Given the description of an element on the screen output the (x, y) to click on. 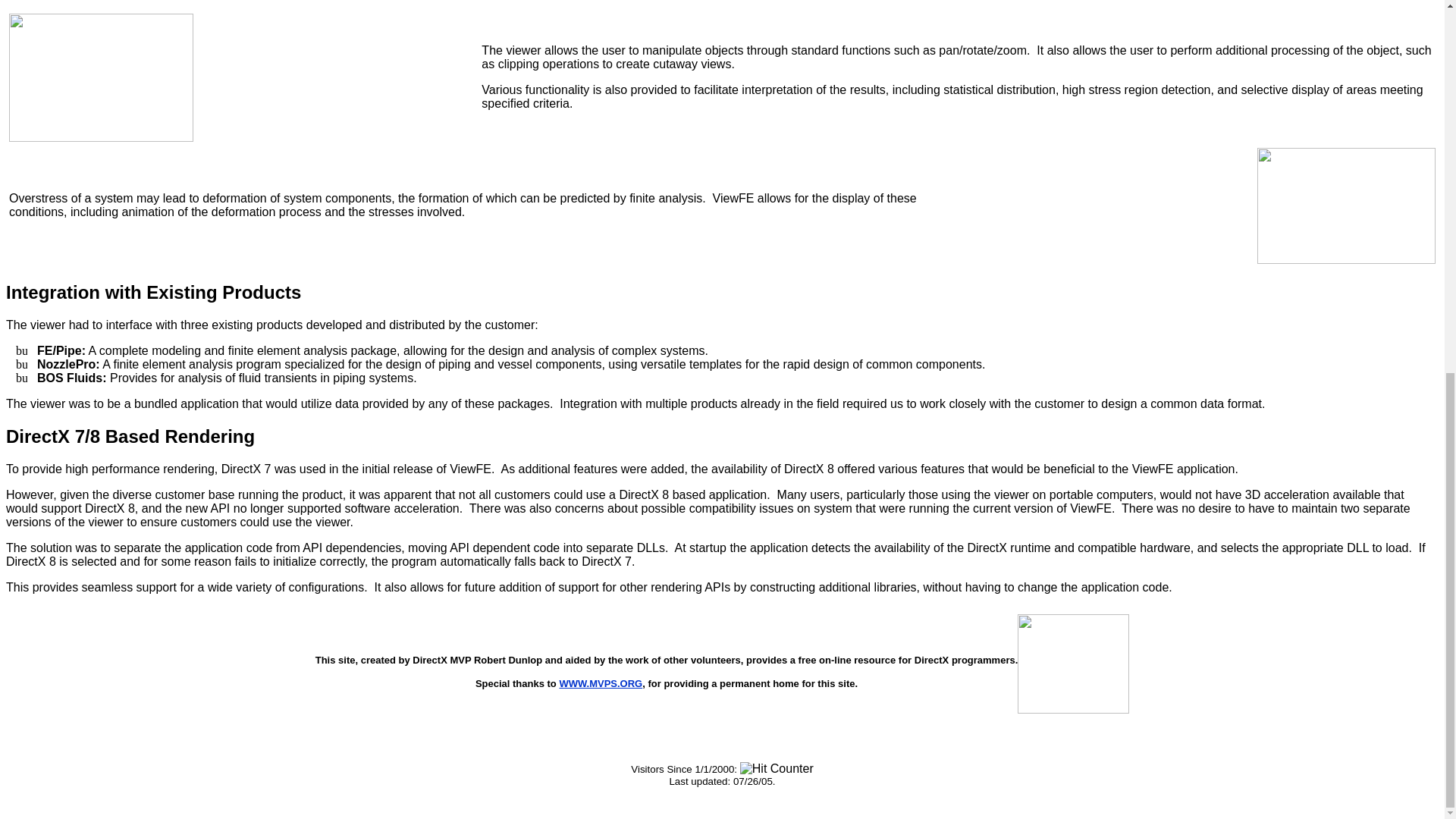
WWW.MVPS.ORG (600, 683)
Click for information on Microsoft MVP program (1073, 709)
